Given the description of an element on the screen output the (x, y) to click on. 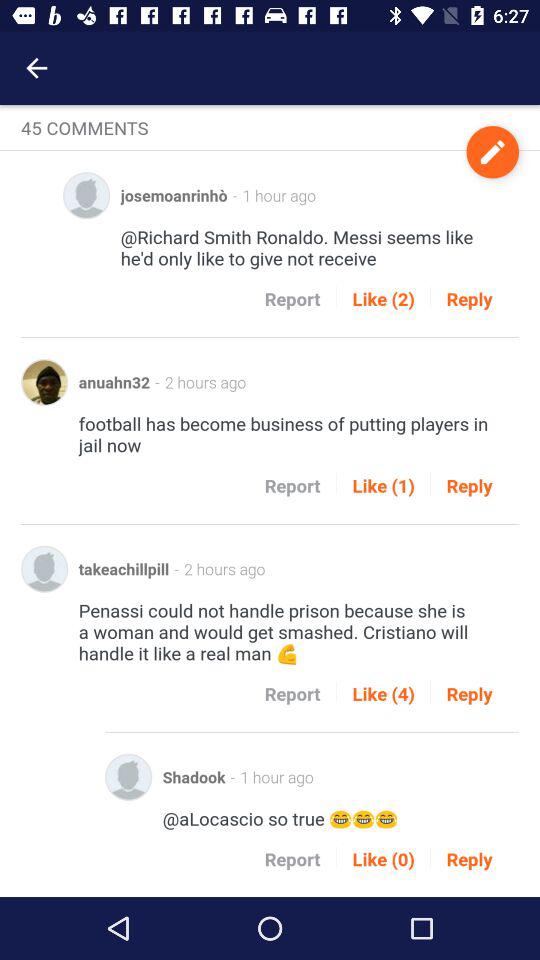
press icon next to the reply icon (383, 485)
